Given the description of an element on the screen output the (x, y) to click on. 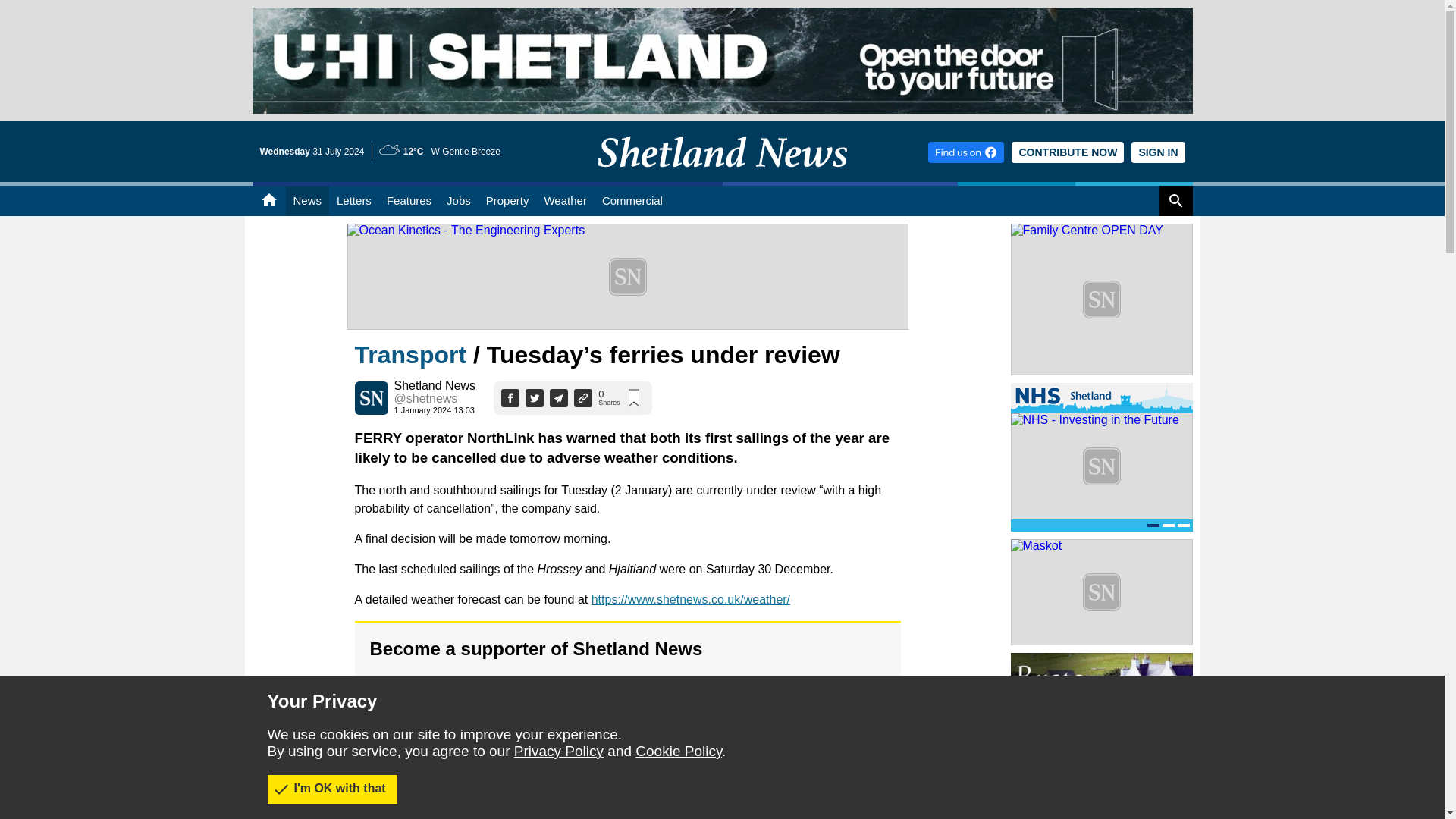
Support Shetland News (1067, 151)
Shetland News Home (721, 177)
News (307, 200)
SIGN IN (1158, 151)
Shetland News Login (1158, 151)
News (307, 200)
CONTRIBUTE NOW (1067, 151)
Find us on Facebook (966, 151)
UHI Shetland - Open the door to your future (721, 13)
Home (268, 200)
